Given the description of an element on the screen output the (x, y) to click on. 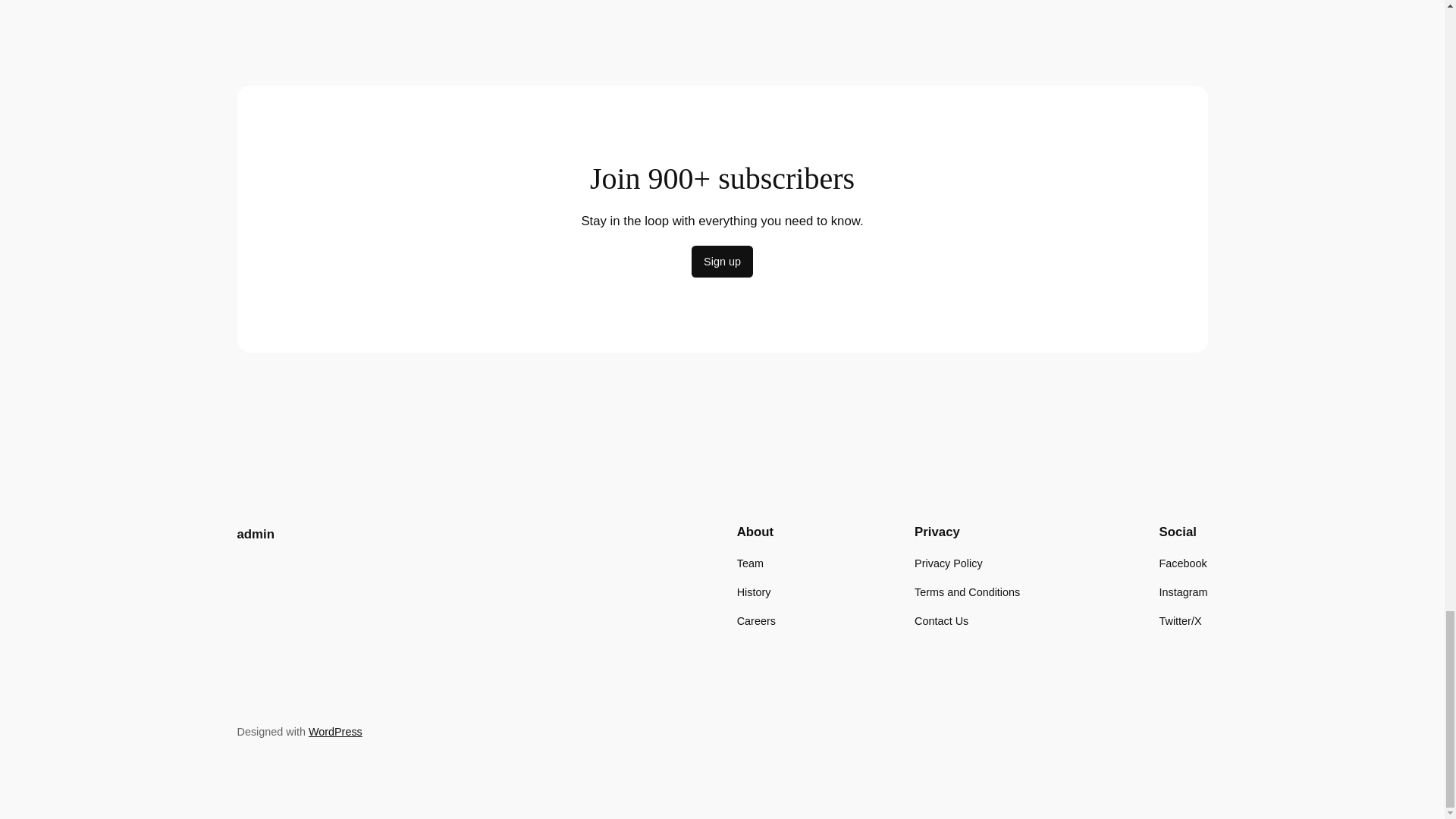
Facebook (1182, 563)
Terms and Conditions (967, 591)
Instagram (1182, 591)
Team (749, 563)
WordPress (335, 731)
History (753, 591)
Sign up (721, 261)
Contact Us (941, 620)
admin (254, 534)
Careers (756, 620)
